Given the description of an element on the screen output the (x, y) to click on. 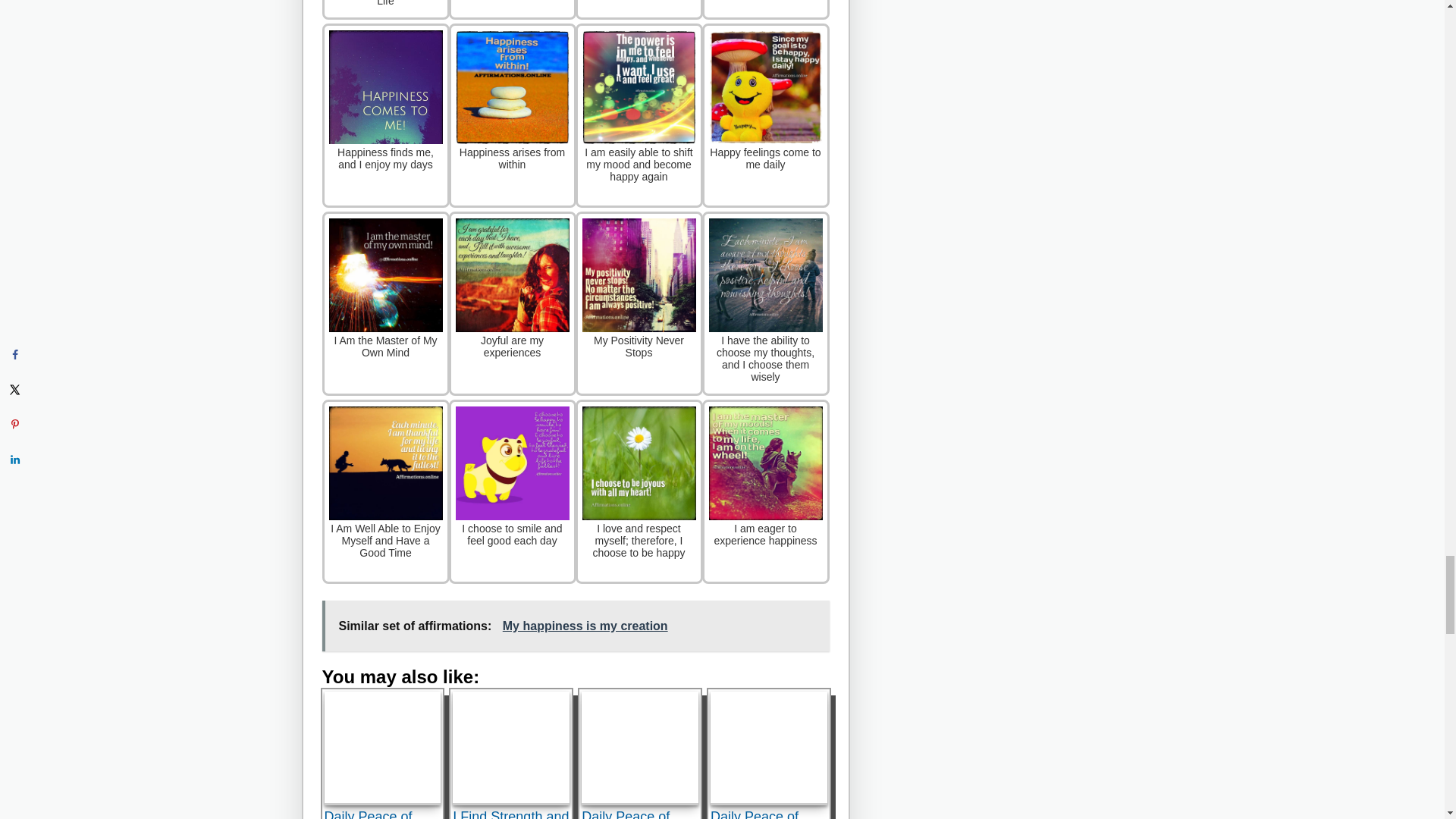
Daily Peace of Mind Affirmation for 22.09.2021 (768, 748)
I Find Strength and Purpose Within Me (510, 748)
Daily Peace of Mind Affirmation for 21.10.2021 (381, 748)
Daily Peace of Mind Affirmation for 10.10.2021 (640, 748)
